Given the description of an element on the screen output the (x, y) to click on. 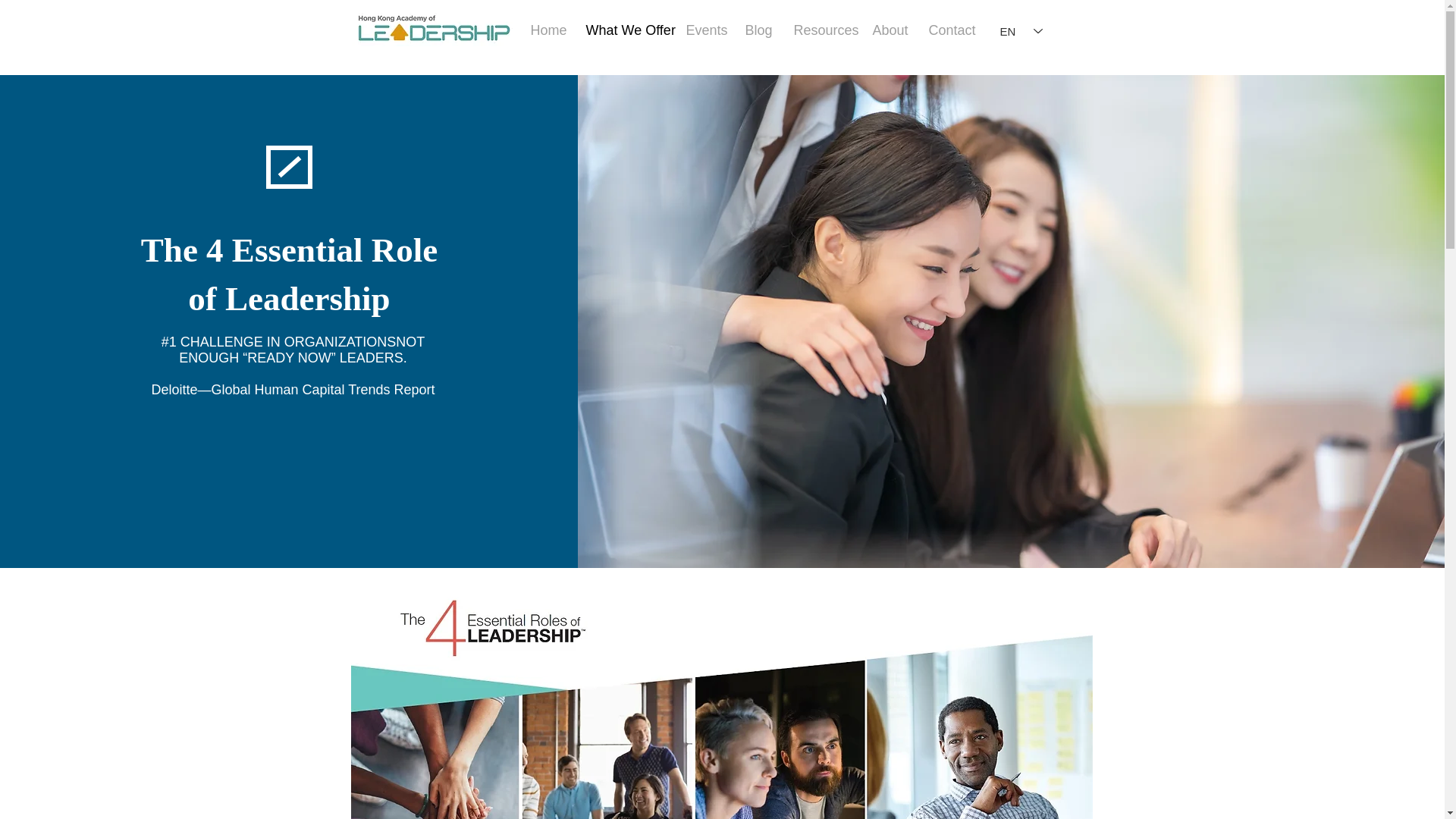
What We Offer (625, 30)
About (889, 30)
Blog (758, 30)
Resources (822, 30)
Home (545, 30)
Contact (950, 30)
Events (704, 30)
